Given the description of an element on the screen output the (x, y) to click on. 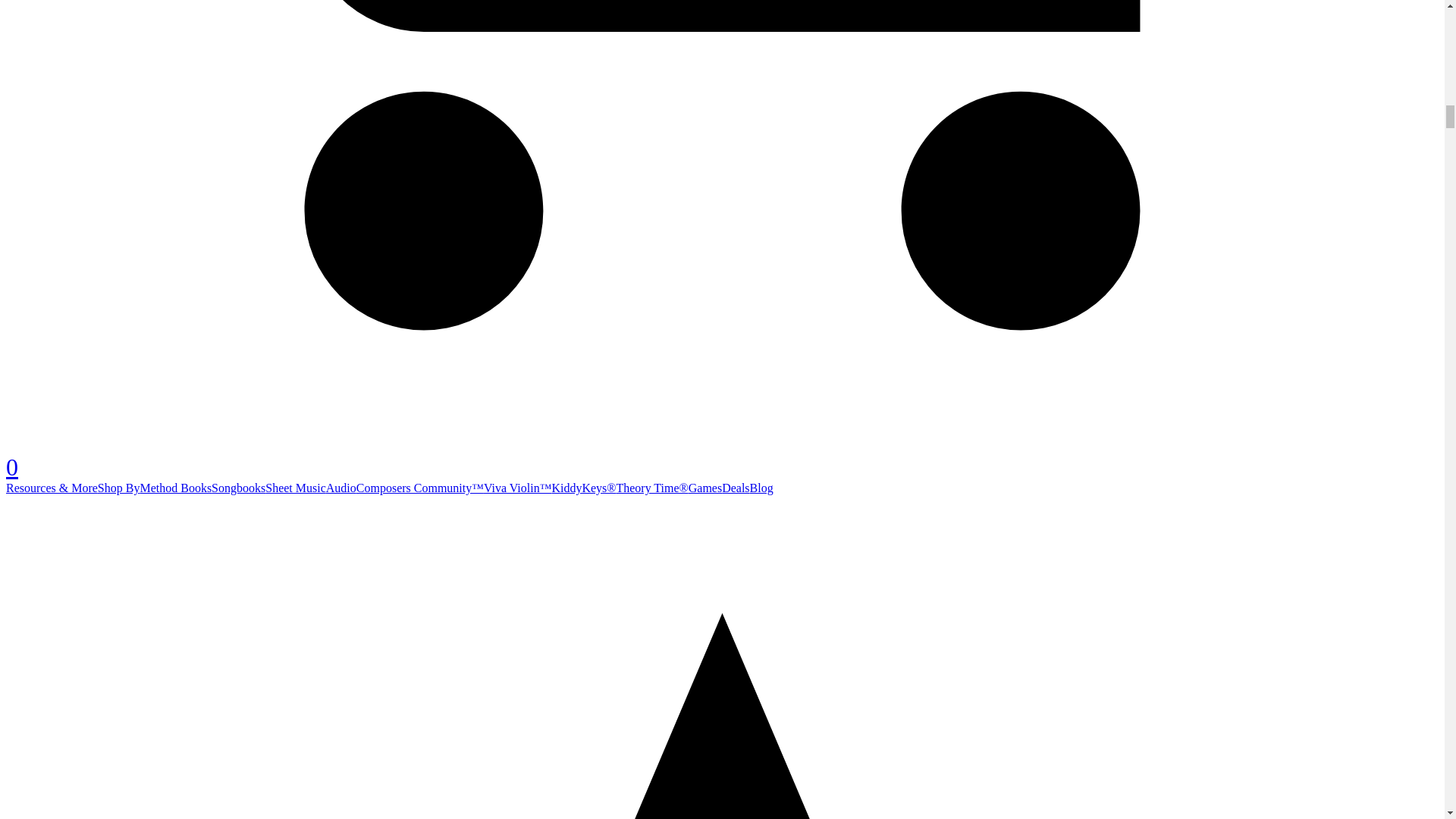
Sheet Music (295, 487)
Shop By (118, 487)
Blog (761, 487)
Songbooks (237, 487)
Deals (735, 487)
Audio (341, 487)
Method Books (175, 487)
Games (705, 487)
